Given the description of an element on the screen output the (x, y) to click on. 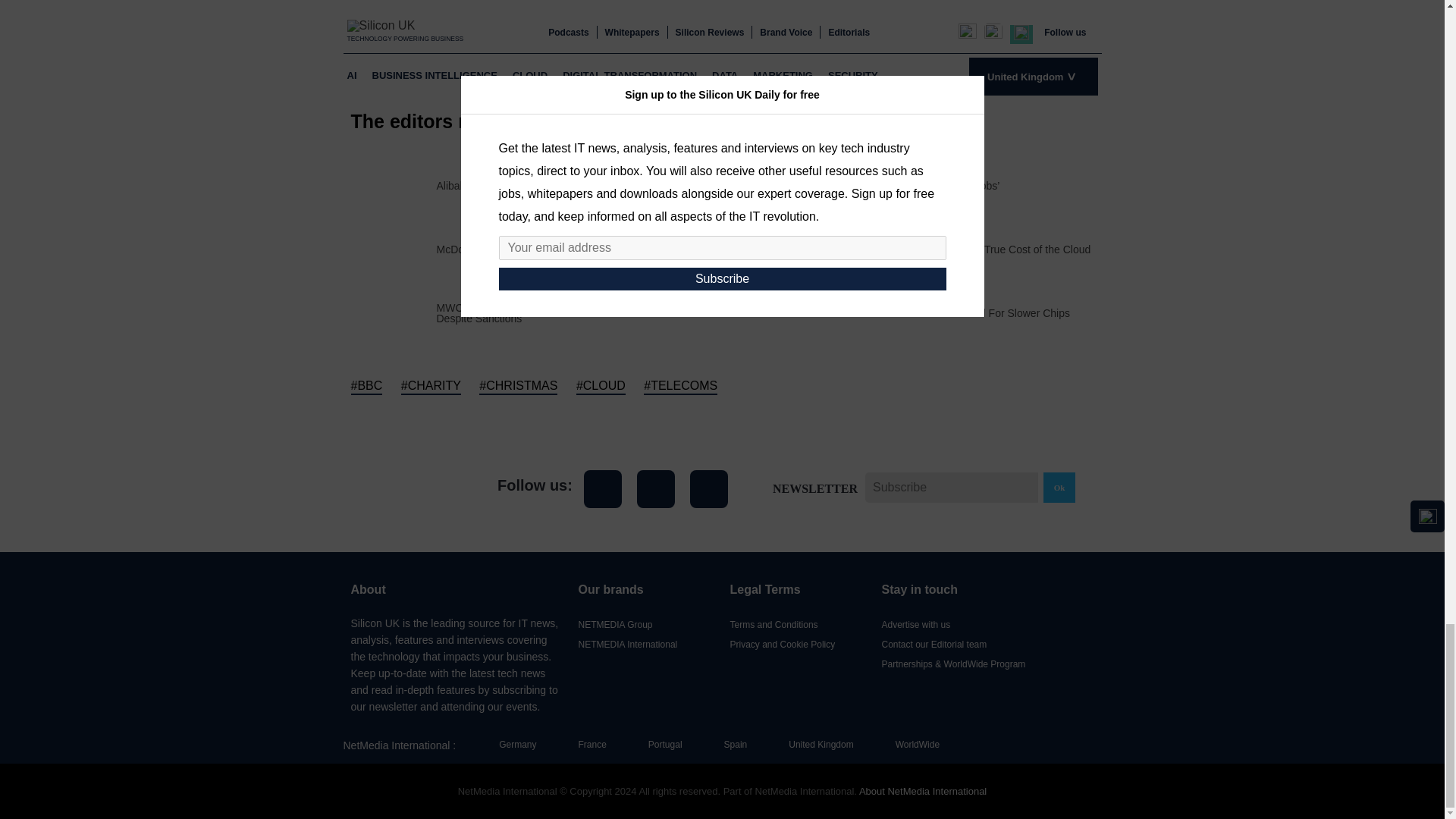
Alibaba Cloud To Shut Down Australia, India Data Centres (573, 185)
Silicon UK (408, 489)
Clouded II Documentary Reveals the True Cost of the Cloud (949, 249)
Nvidia Finds Reduced China Demand For Slower Chips (939, 312)
